Given the description of an element on the screen output the (x, y) to click on. 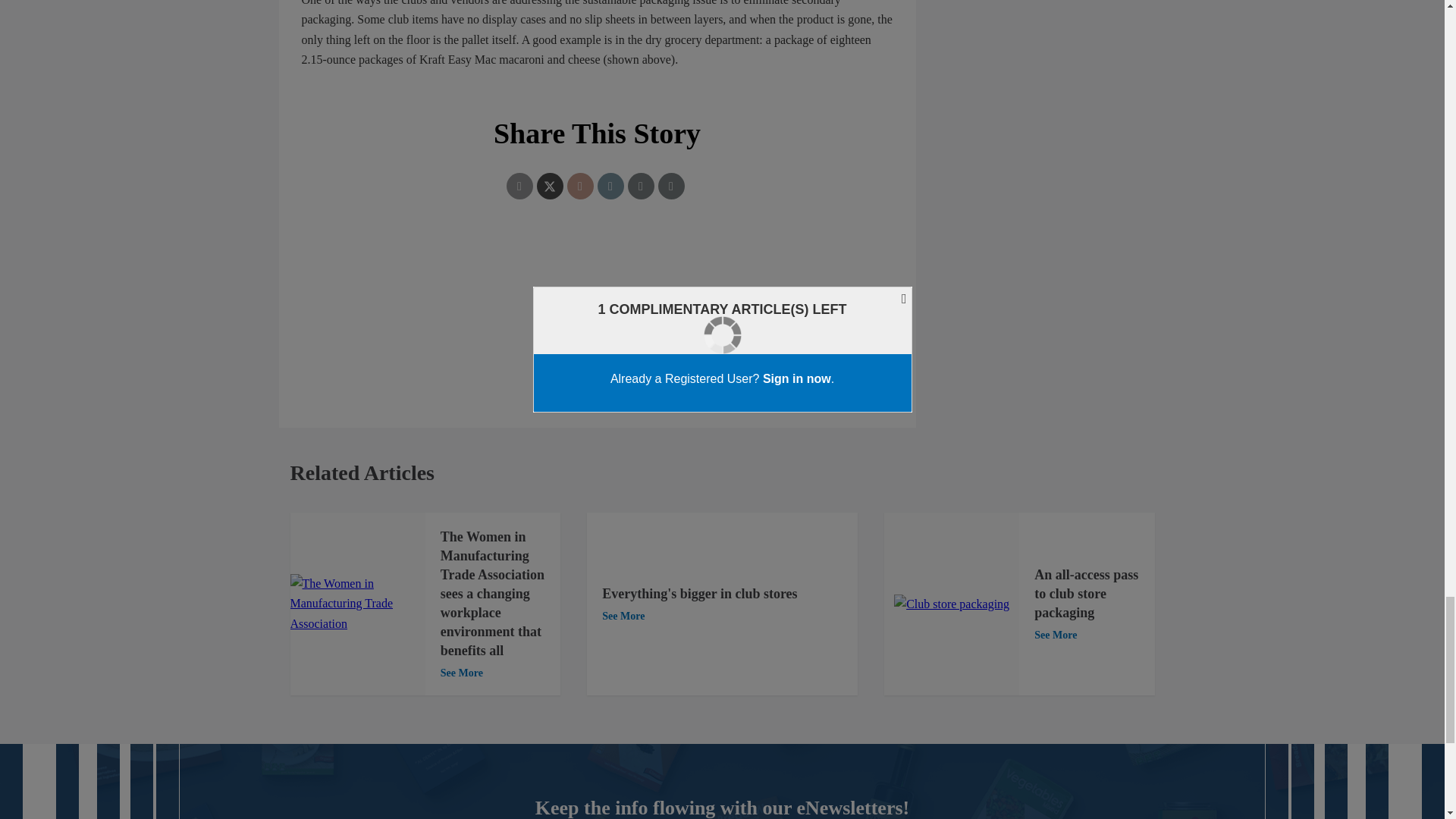
The Women in Manufacturing Trade Association (357, 603)
Club store packaging (951, 604)
Interaction questions (597, 311)
